Given the description of an element on the screen output the (x, y) to click on. 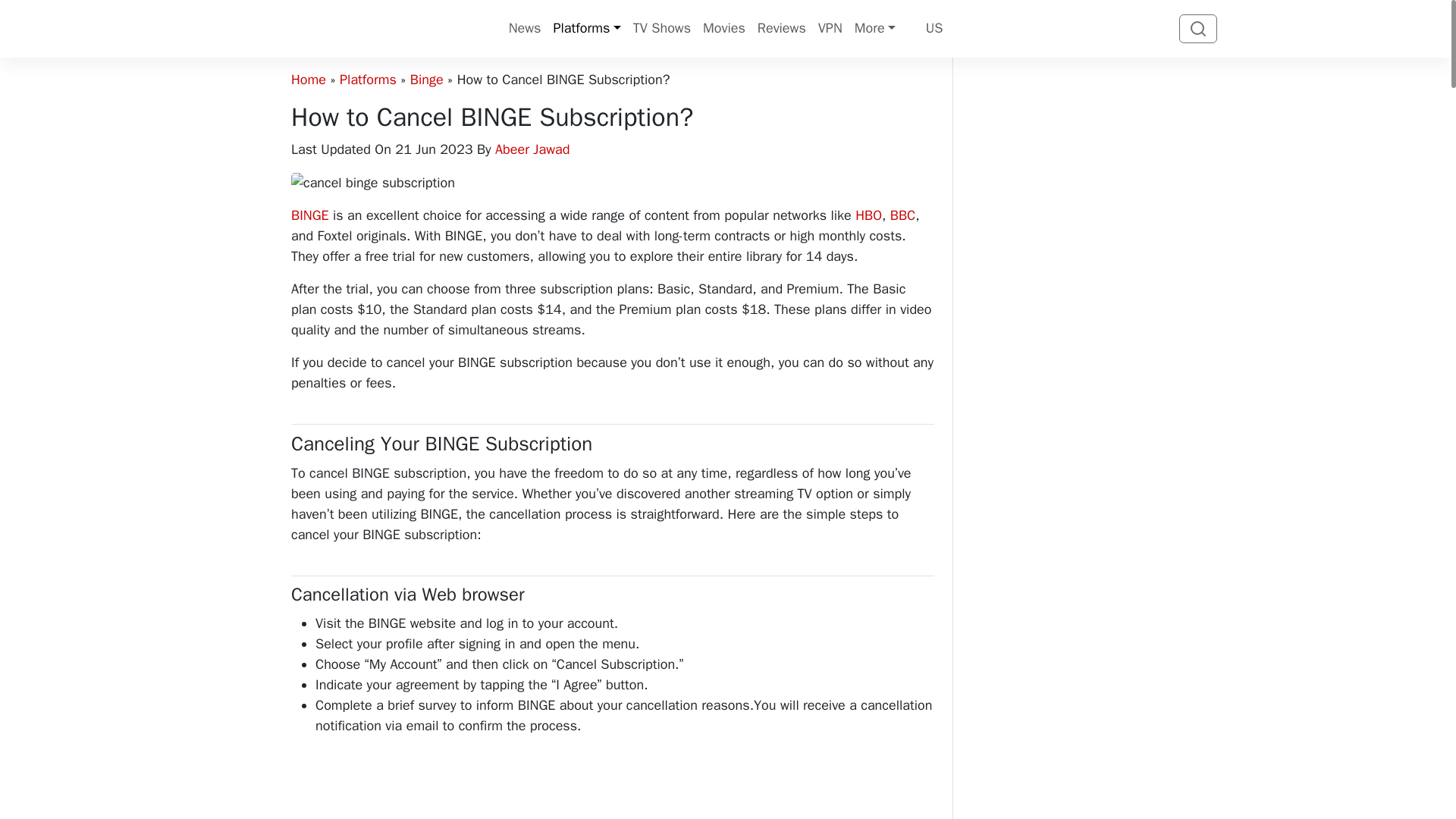
Movies (724, 28)
US (925, 28)
More (874, 28)
VPN (830, 28)
TV Shows (662, 28)
US (925, 28)
Platforms (586, 28)
Reviews (781, 28)
News (524, 28)
